Given the description of an element on the screen output the (x, y) to click on. 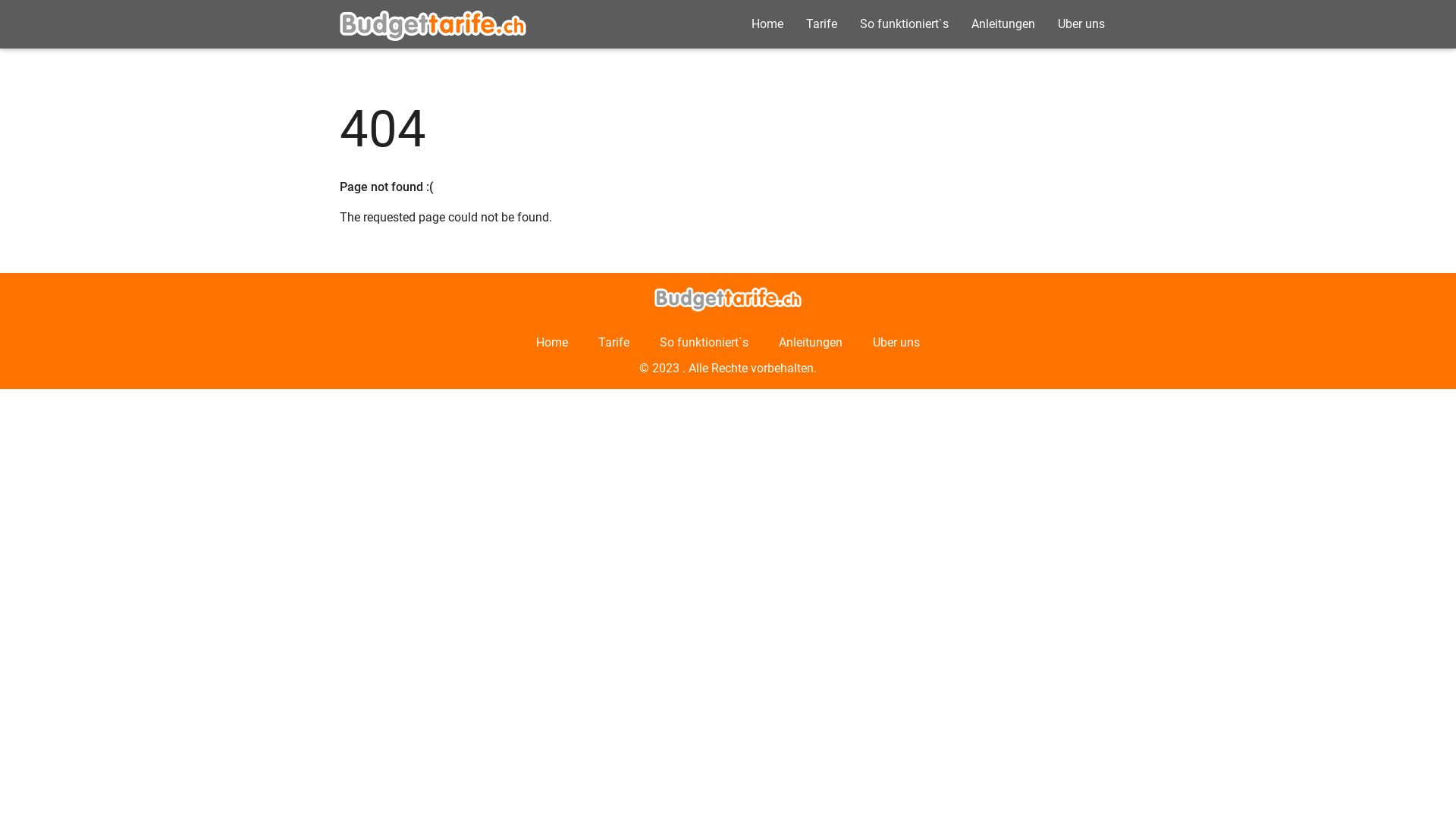
Uber uns Element type: text (895, 342)
Tarife Element type: text (821, 24)
Home Element type: text (767, 24)
Uber uns Element type: text (1081, 24)
So funktioniert`s Element type: text (703, 342)
Tarife Element type: text (613, 342)
Home Element type: text (551, 342)
Anleitungen Element type: text (1003, 24)
So funktioniert`s Element type: text (904, 24)
Anleitungen Element type: text (810, 342)
